Given the description of an element on the screen output the (x, y) to click on. 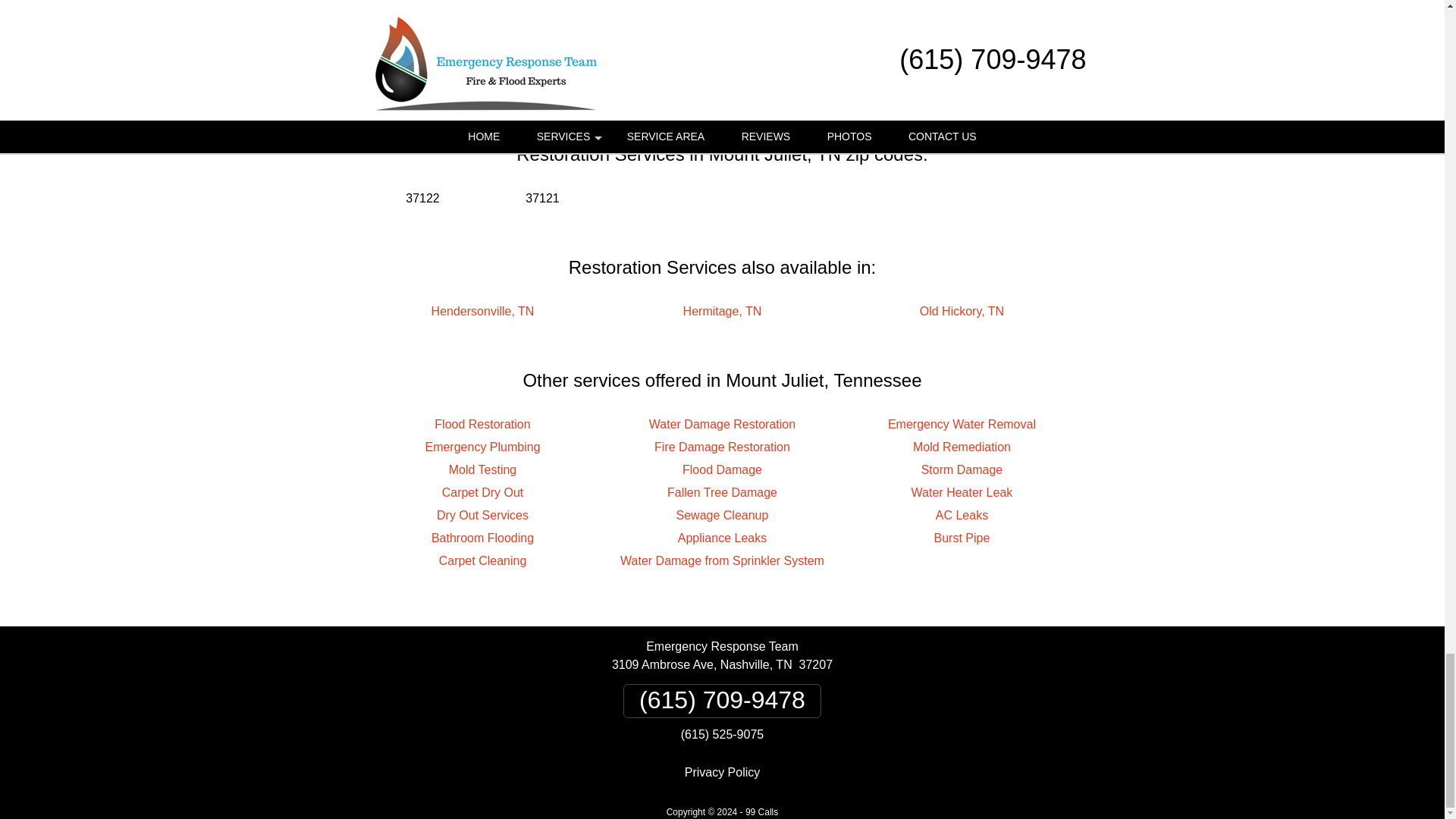
Houzz (777, 66)
Yelp (721, 66)
Facebook (666, 66)
